Given the description of an element on the screen output the (x, y) to click on. 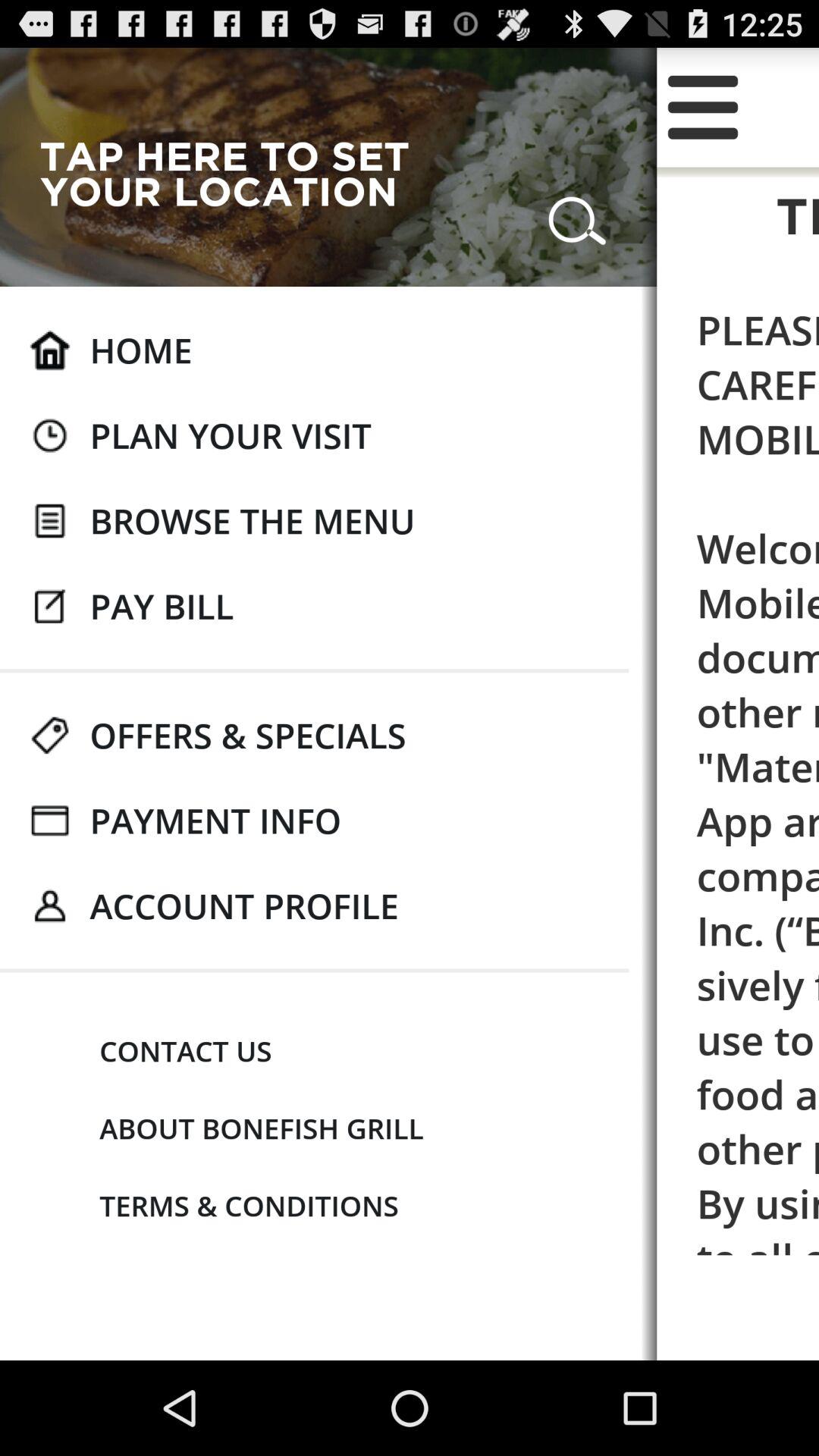
launch the item to the left of please read these icon (243, 905)
